Given the description of an element on the screen output the (x, y) to click on. 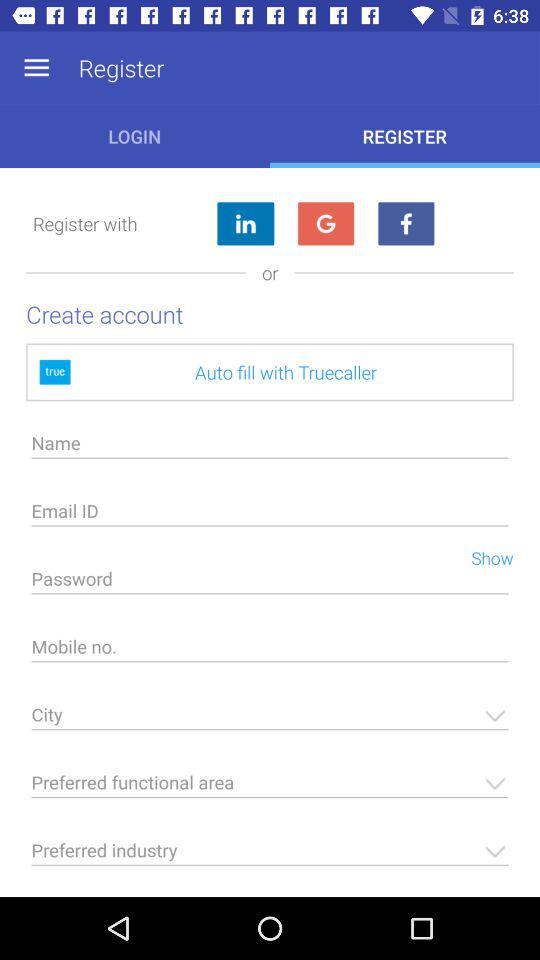
click the item to the right of register with icon (244, 223)
